Given the description of an element on the screen output the (x, y) to click on. 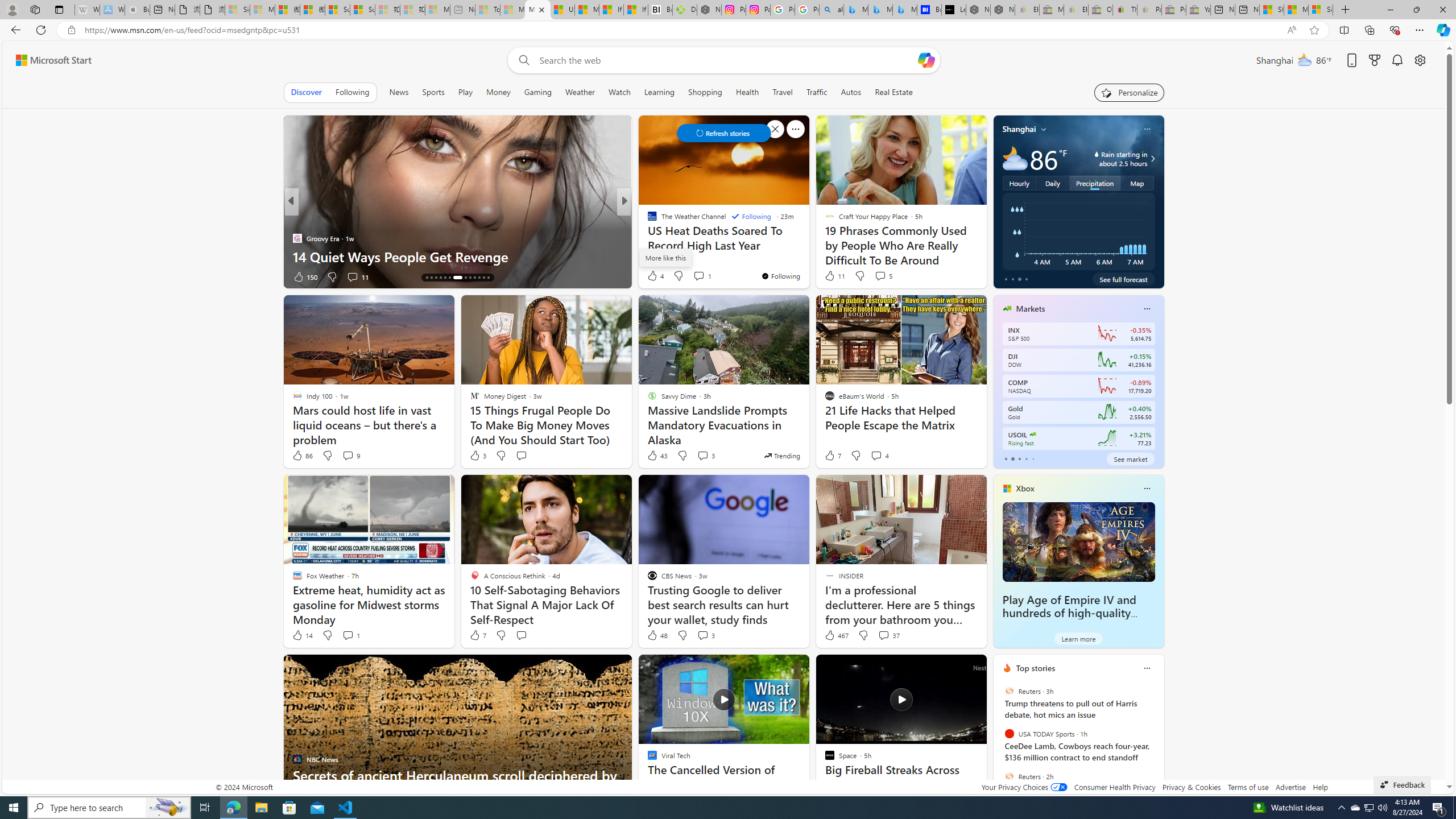
Open Copilot (925, 59)
tab-2 (1019, 458)
AutomationID: tab-15 (431, 277)
Real Estate (893, 92)
Microsoft rewards (1374, 60)
The Cool Down (647, 219)
Restore (1416, 9)
AutomationID: tab-24 (478, 277)
US Oil WTI (1032, 434)
New tab - Sleeping (462, 9)
Your Privacy Choices (1024, 786)
